Given the description of an element on the screen output the (x, y) to click on. 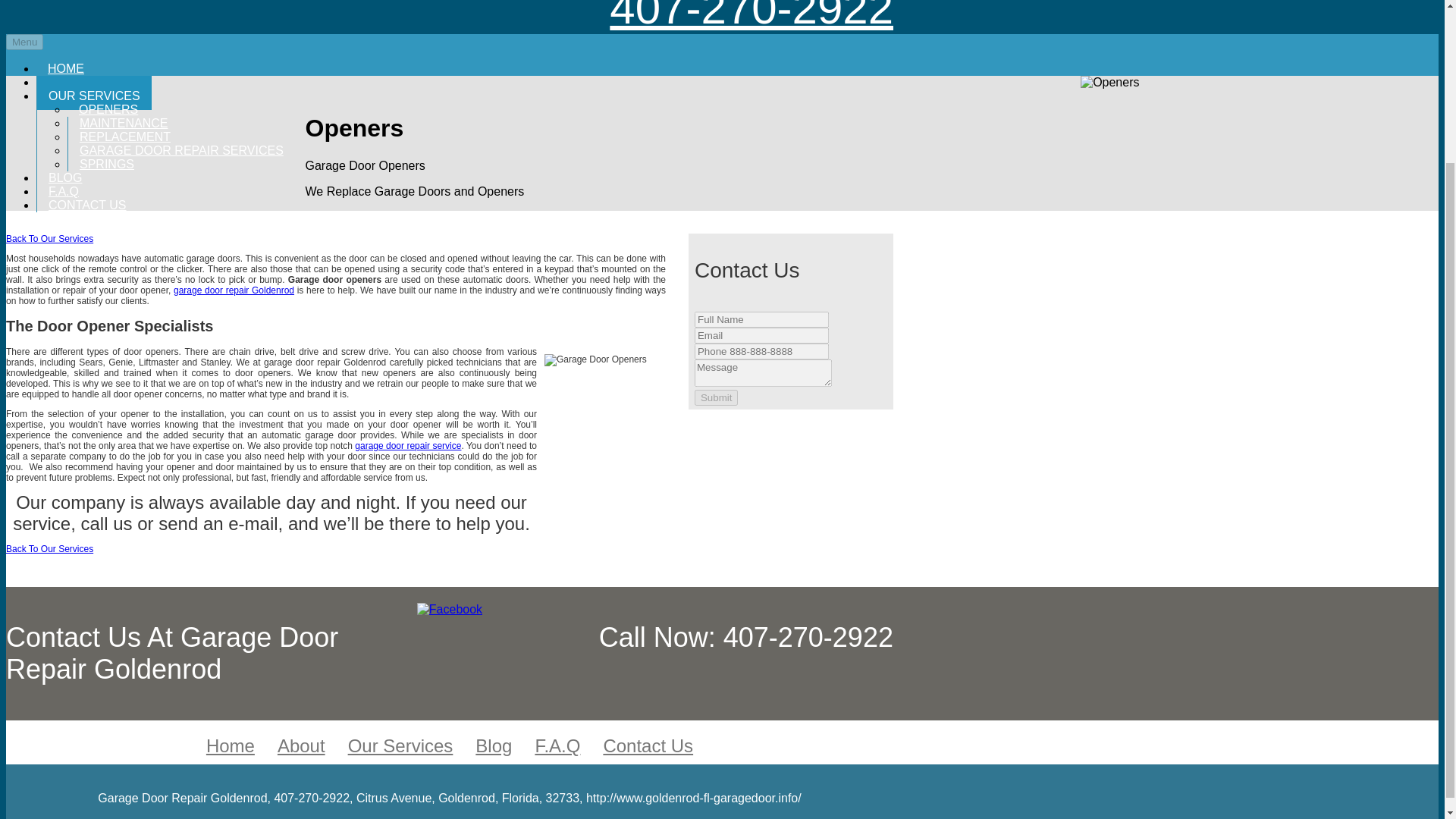
Submit (716, 397)
OPENERS (107, 106)
Our Services (399, 745)
Blog (494, 745)
garage door repair service (408, 445)
GARAGE DOOR REPAIR SERVICES (181, 147)
F.A.Q (63, 188)
Facebook (448, 608)
About (301, 745)
Garage Door Repair Goldenrod (233, 290)
